Given the description of an element on the screen output the (x, y) to click on. 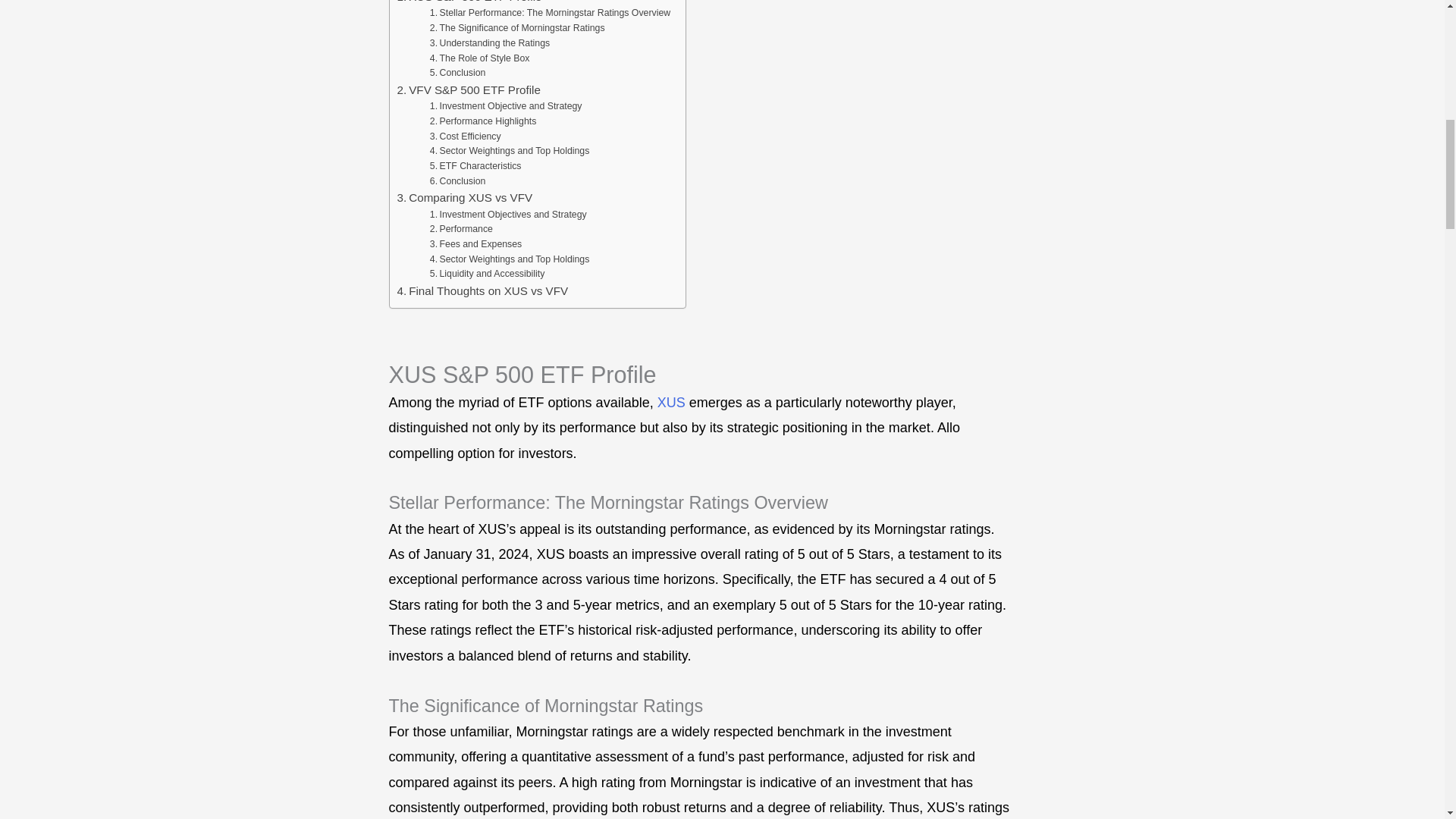
Performance (461, 229)
Fees and Expenses (475, 244)
Performance Highlights (483, 121)
Investment Objectives and Strategy (507, 215)
Final Thoughts on XUS vs VFV (483, 290)
Stellar Performance: The Morningstar Ratings Overview (549, 13)
Comparing XUS vs VFV (464, 198)
XUS (671, 402)
Sector Weightings and Top Holdings (509, 259)
Liquidity and Accessibility (486, 273)
The Significance of Morningstar Ratings (517, 28)
Sector Weightings and Top Holdings (509, 151)
Conclusion (457, 181)
The Role of Style Box (479, 58)
The Role of Style Box (479, 58)
